Given the description of an element on the screen output the (x, y) to click on. 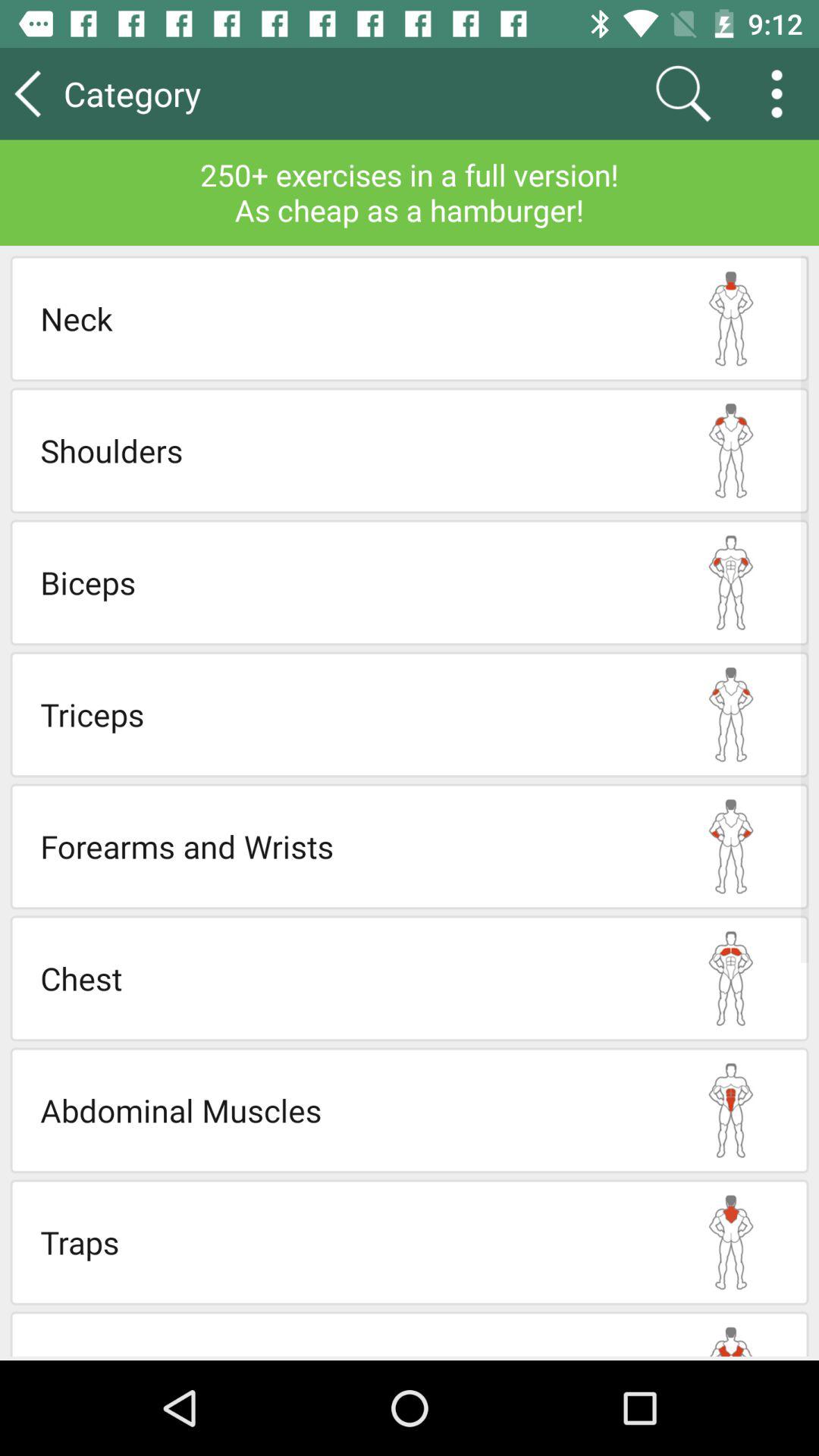
swipe to lats (346, 1349)
